Given the description of an element on the screen output the (x, y) to click on. 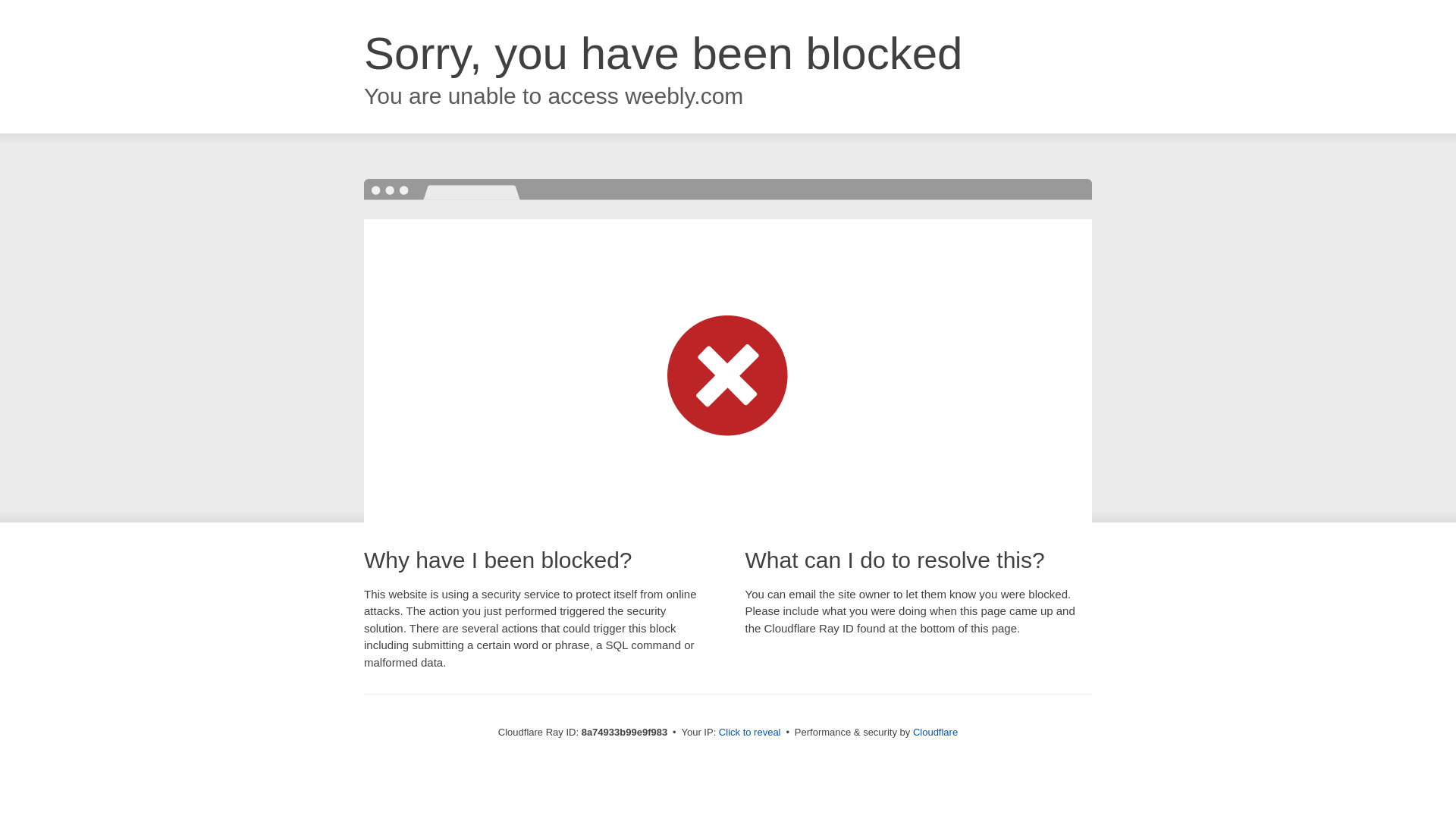
Click to reveal (749, 732)
Cloudflare (935, 731)
